Given the description of an element on the screen output the (x, y) to click on. 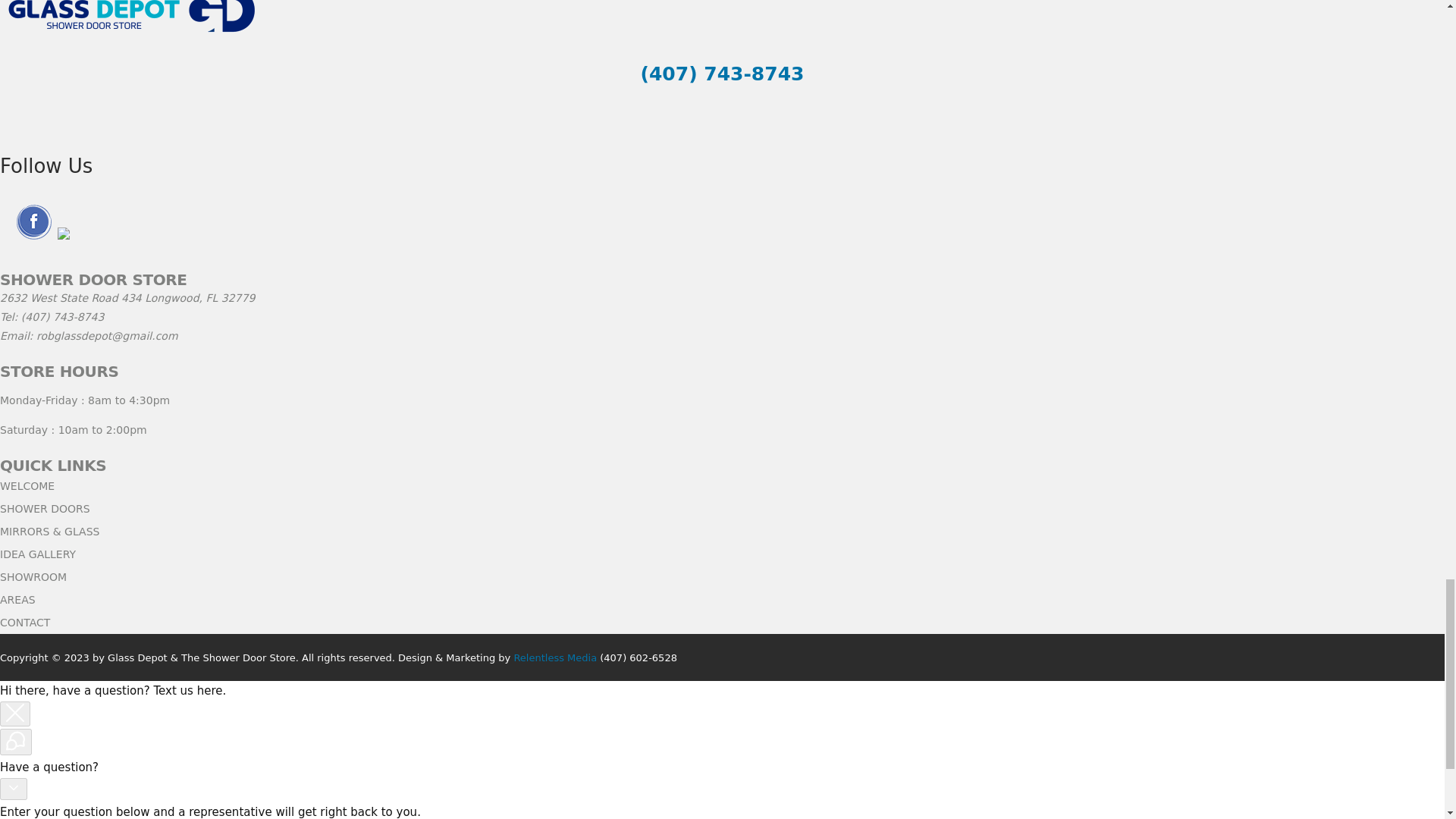
SHOWER DOORS (45, 508)
SHOWROOM (33, 576)
WELCOME (27, 485)
AREAS (17, 599)
IDEA GALLERY (37, 553)
CONTACT (24, 622)
Relentless Media (554, 657)
